Given the description of an element on the screen output the (x, y) to click on. 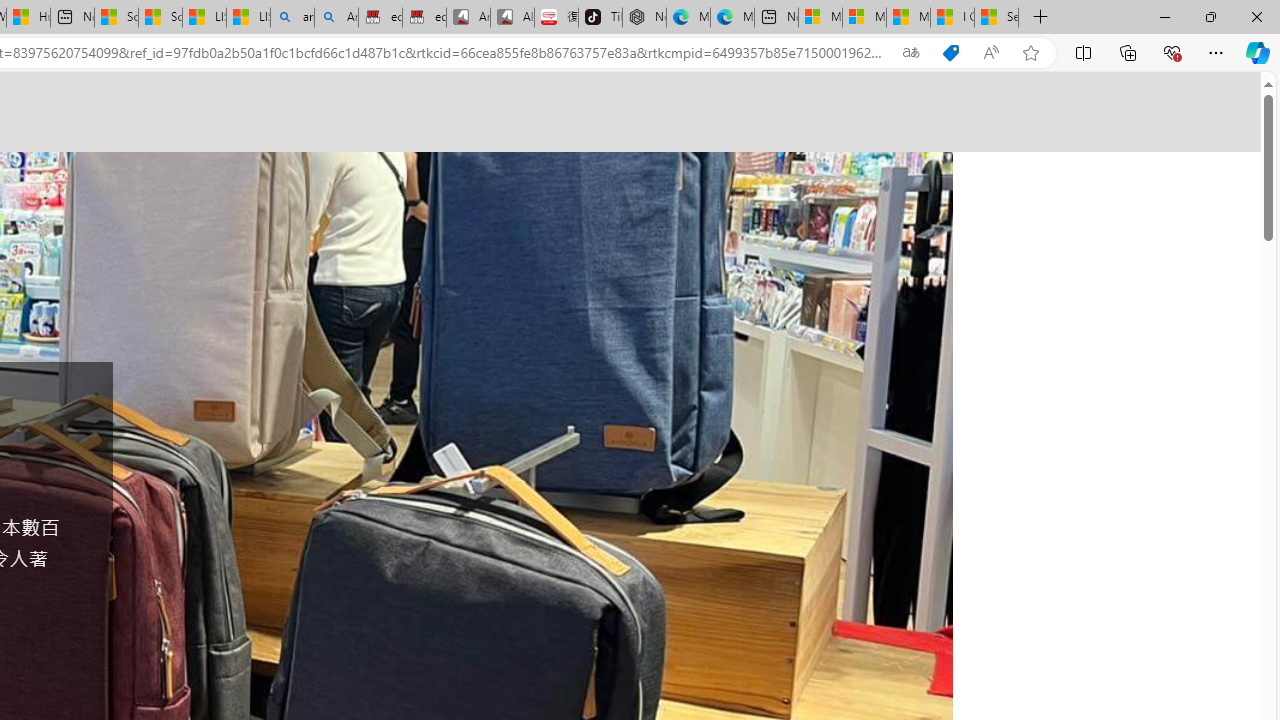
TikTok (600, 17)
I Gained 20 Pounds of Muscle in 30 Days! | Watch (952, 17)
This site has coupons! Shopping in Microsoft Edge (950, 53)
Show translate options (910, 53)
